Given the description of an element on the screen output the (x, y) to click on. 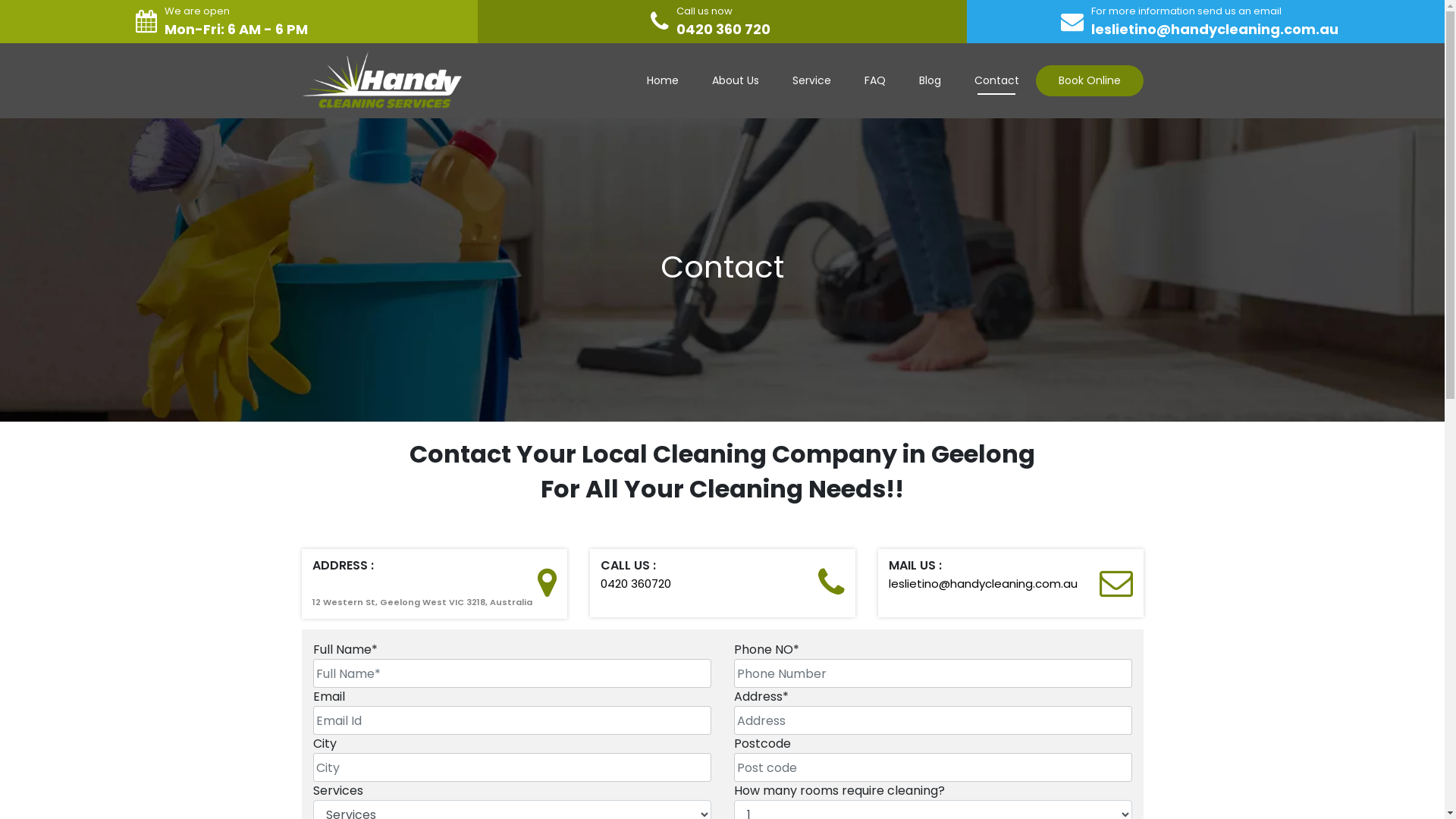
0420 360720 Element type: text (635, 583)
Home Element type: text (661, 80)
About Us Element type: text (734, 80)
FAQ Element type: text (874, 80)
Service Element type: text (811, 80)
0420 360 720 Element type: text (723, 28)
leslietino@handycleaning.com.au Element type: text (982, 583)
Book Online Element type: text (1089, 80)
leslietino@handycleaning.com.au Element type: text (1214, 28)
Blog Element type: text (929, 80)
Contact Element type: text (996, 80)
